Given the description of an element on the screen output the (x, y) to click on. 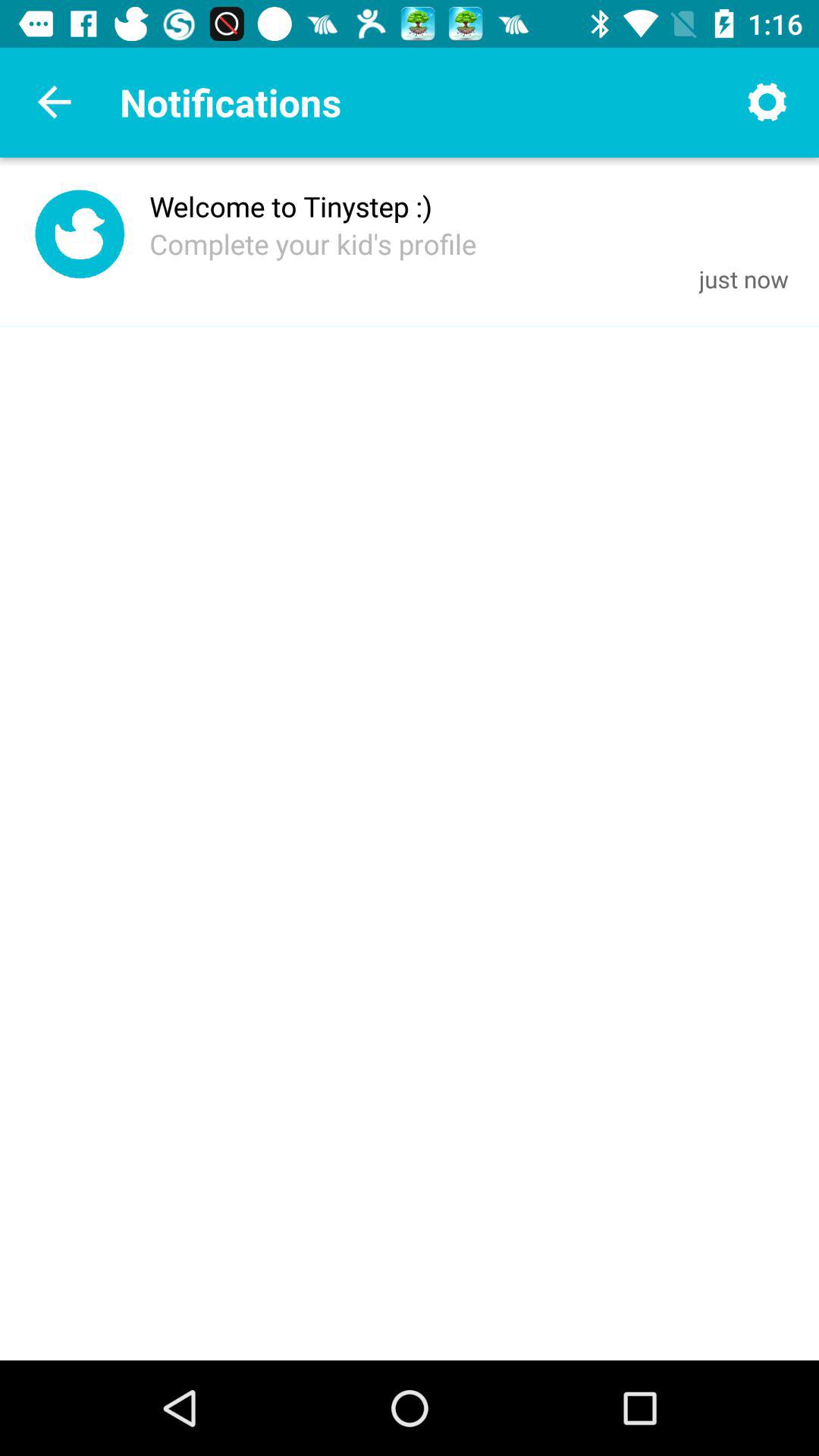
go back (54, 102)
